Given the description of an element on the screen output the (x, y) to click on. 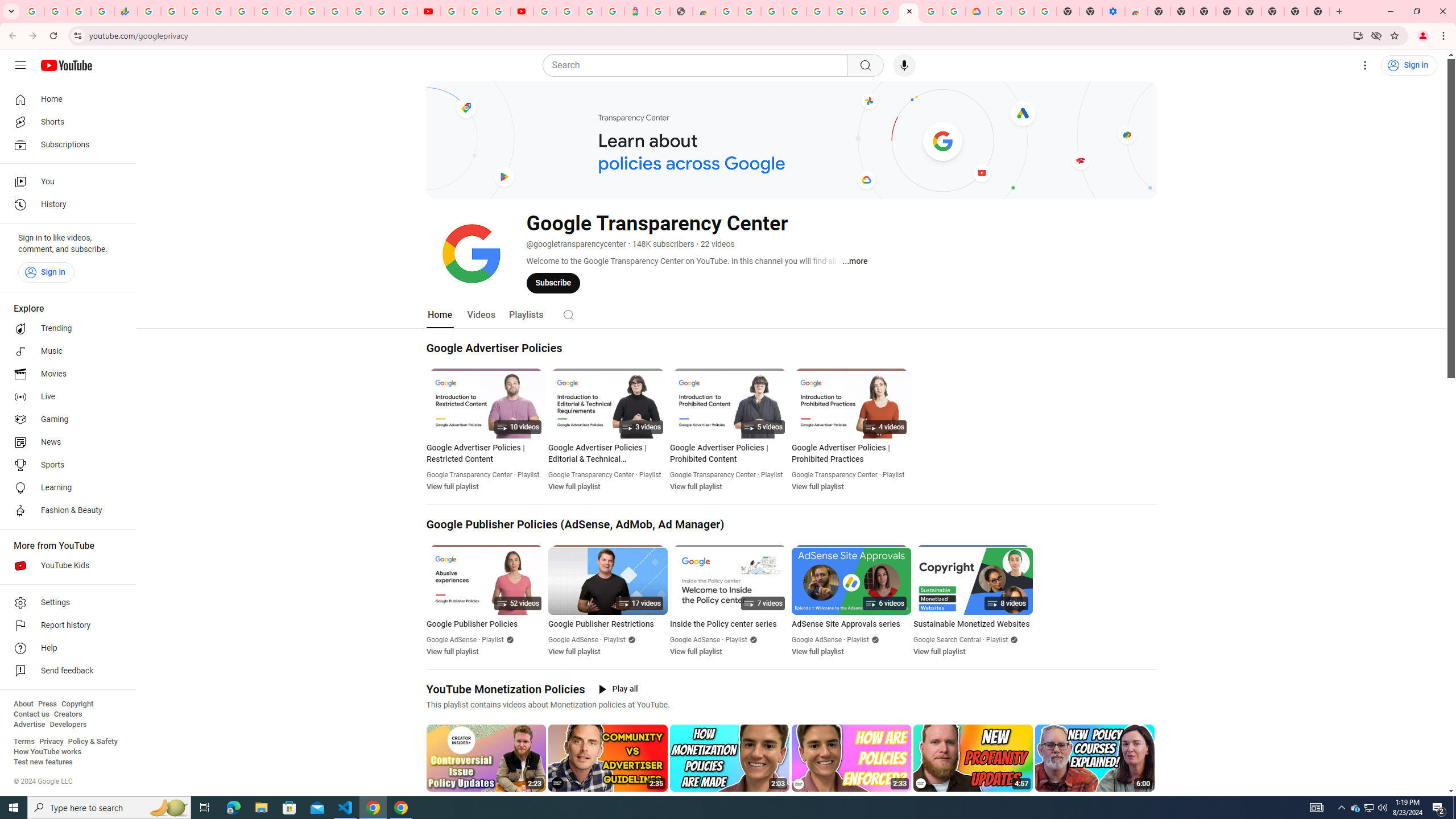
Play all (618, 688)
YouTube Kids (64, 565)
YouTube (451, 11)
Live (64, 396)
Subscribe (552, 282)
Videos (481, 314)
Google Account Help (475, 11)
Ad Settings (794, 11)
Action menu (1146, 800)
YouTube (312, 11)
How YouTube works (47, 751)
Google Workspace Admin Community (32, 11)
